Given the description of an element on the screen output the (x, y) to click on. 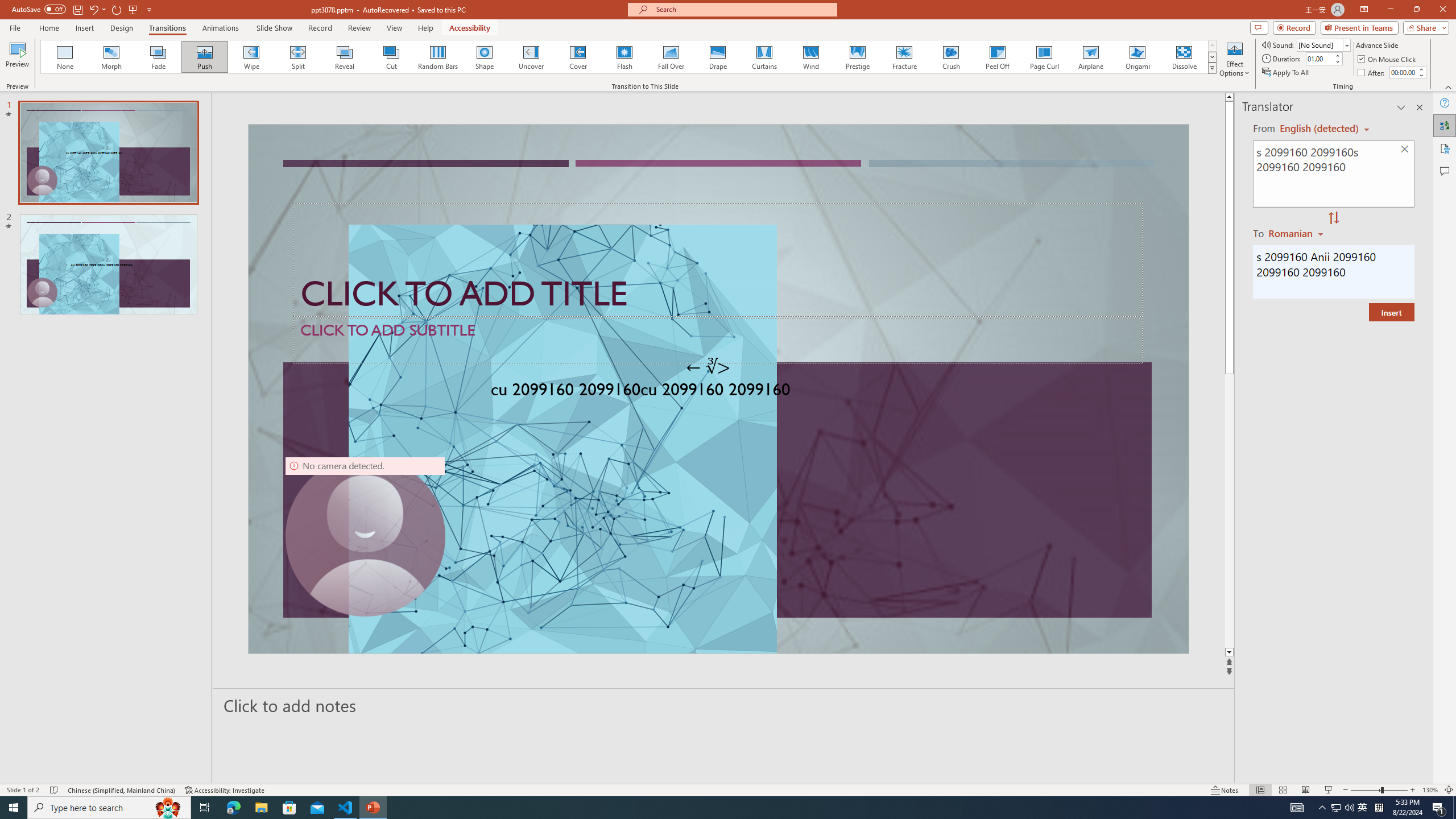
Push (205, 56)
On Mouse Click (1387, 58)
Wind (810, 56)
